Given the description of an element on the screen output the (x, y) to click on. 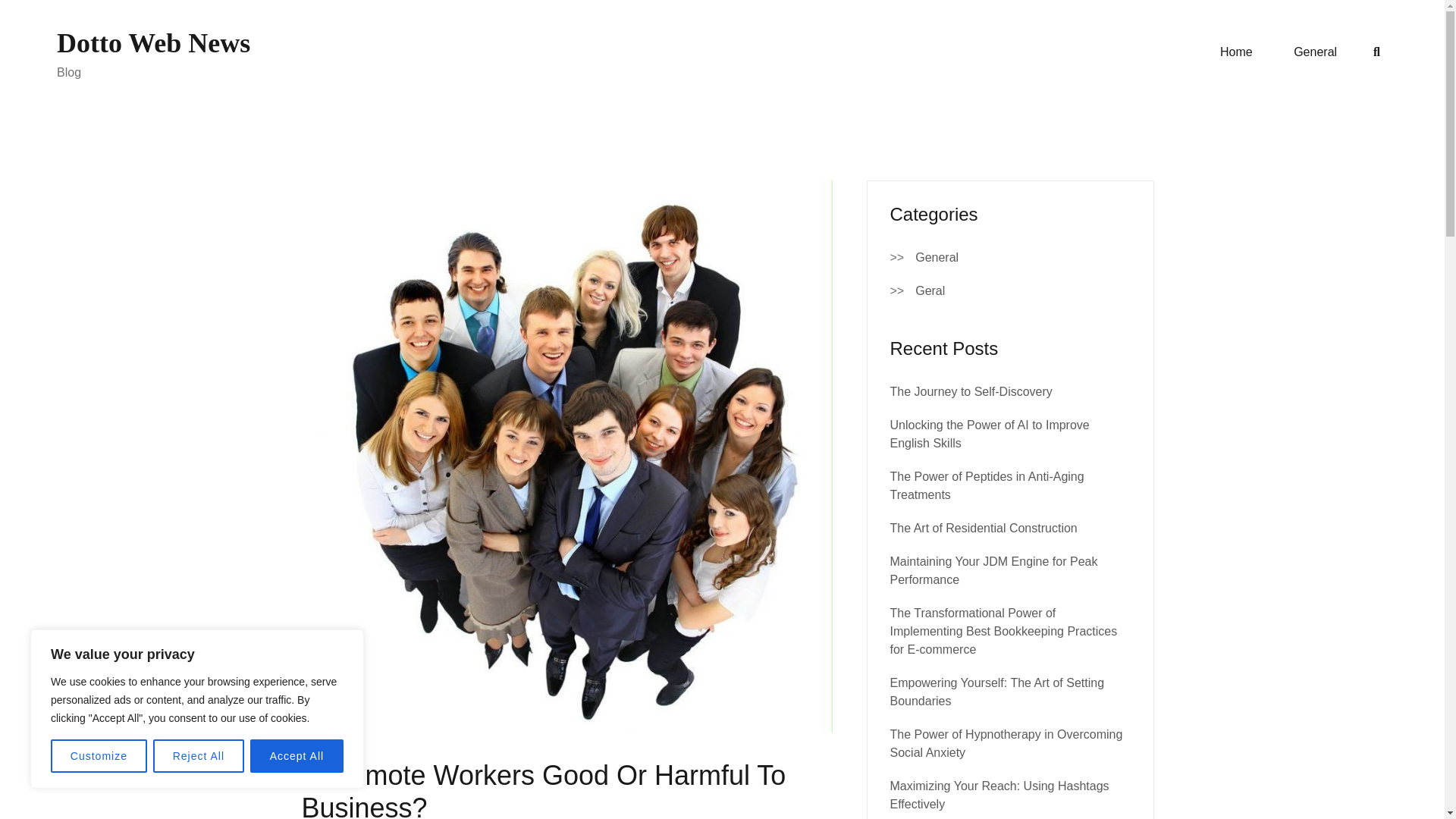
Unlocking the Power of AI to Improve English Skills (989, 433)
Home (1236, 52)
The Art of Residential Construction (983, 527)
Customize (98, 756)
Maintaining Your JDM Engine for Peak Performance (993, 570)
Geral (929, 290)
Dotto Web News (153, 42)
Accept All (296, 756)
The Journey to Self-Discovery (970, 391)
General (936, 257)
